Given the description of an element on the screen output the (x, y) to click on. 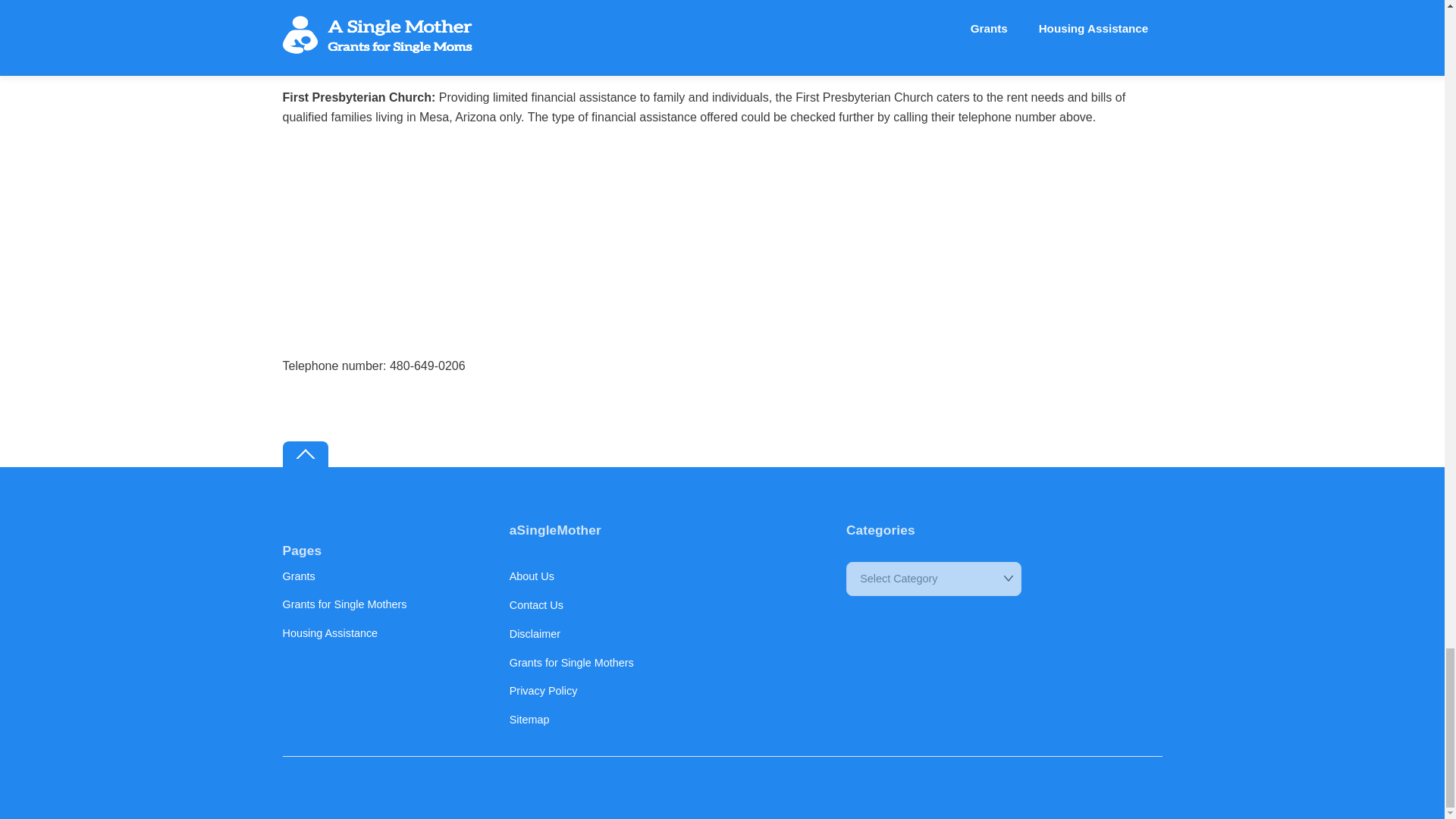
Housing Assistance (329, 633)
Sitemap (529, 719)
Back To Top (304, 454)
Grants (298, 576)
Contact Us (536, 604)
Disclaimer (534, 633)
Grants for Single Mothers (571, 662)
Privacy Policy (543, 690)
Grants for Single Mothers (344, 604)
About Us (531, 576)
